Given the description of an element on the screen output the (x, y) to click on. 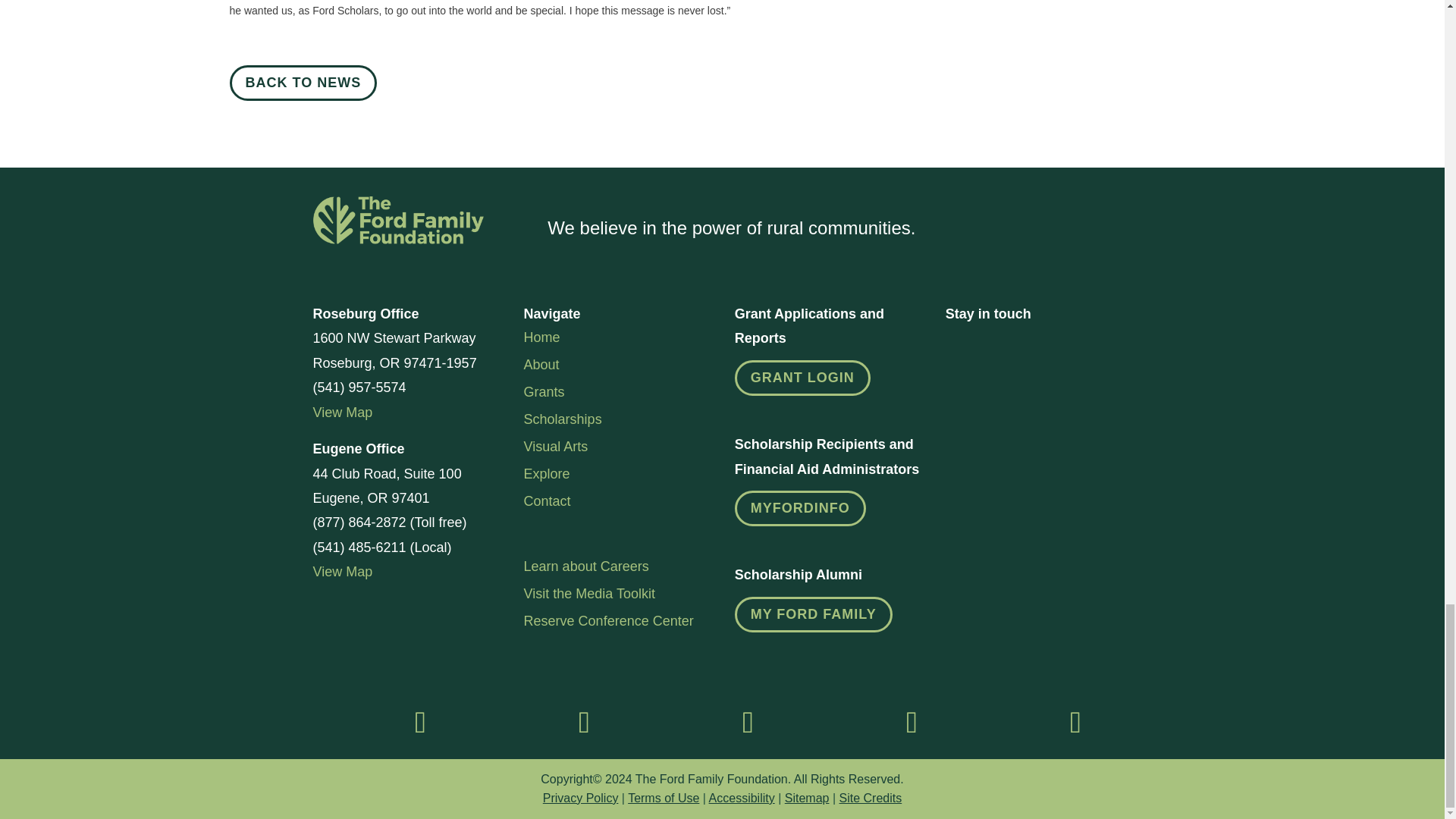
Follow on Instagram (583, 722)
footer-logo (398, 220)
Follow on LinkedIn (747, 722)
Follow on Facebook (419, 722)
Follow on X (911, 722)
Follow on Youtube (1075, 722)
